Given the description of an element on the screen output the (x, y) to click on. 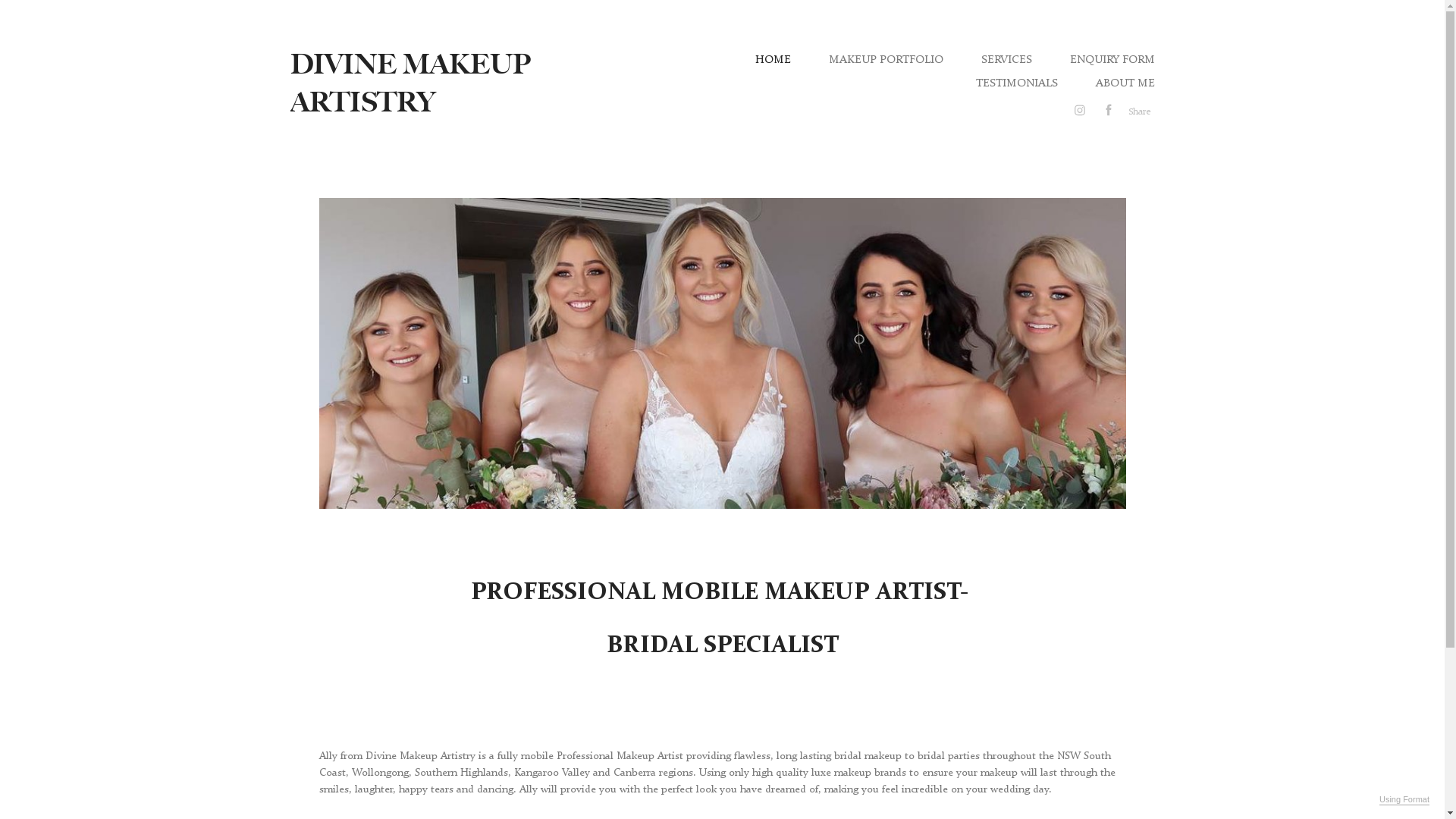
Share Element type: text (1139, 111)
SERVICES Element type: text (1006, 58)
DIVINE MAKEUP ARTISTRY Element type: text (409, 82)
Using Format Element type: text (1404, 799)
HOME Element type: text (772, 58)
ENQUIRY FORM Element type: text (1111, 58)
MAKEUP PORTFOLIO Element type: text (885, 58)
TESTIMONIALS Element type: text (1016, 82)
ABOUT ME Element type: text (1124, 82)
